Given the description of an element on the screen output the (x, y) to click on. 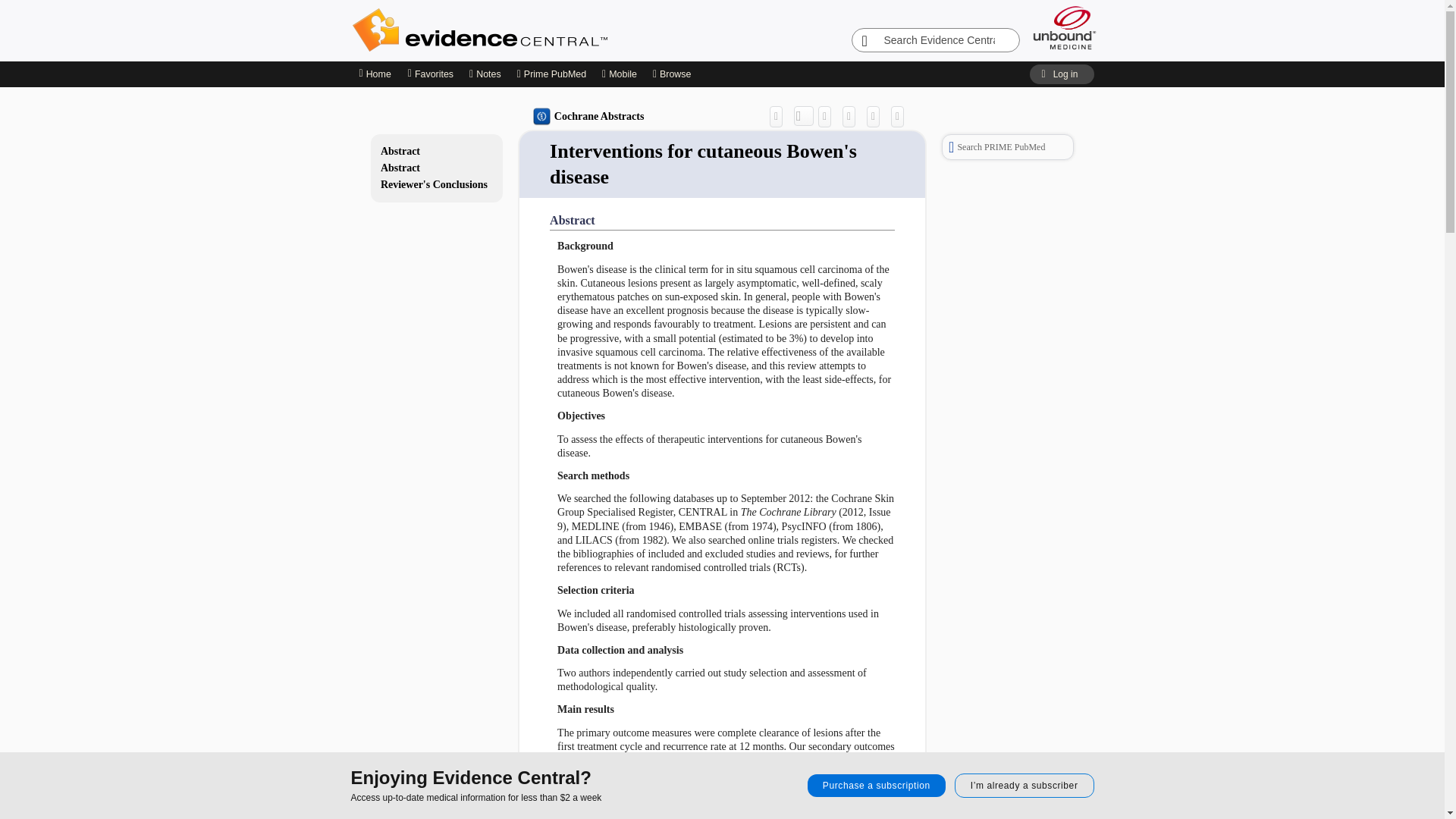
Create Citation (828, 116)
Print PDF (853, 116)
Share (780, 116)
Prime PubMed (551, 73)
Notes (484, 73)
Abstract (436, 151)
Reviewer's Conclusions (436, 184)
Log In (1061, 74)
Tag Record (901, 116)
Browse (673, 73)
Mobile (619, 73)
Browse (674, 73)
Cochrane Abstracts (587, 116)
Prime PubMed (551, 73)
Notes (484, 73)
